Given the description of an element on the screen output the (x, y) to click on. 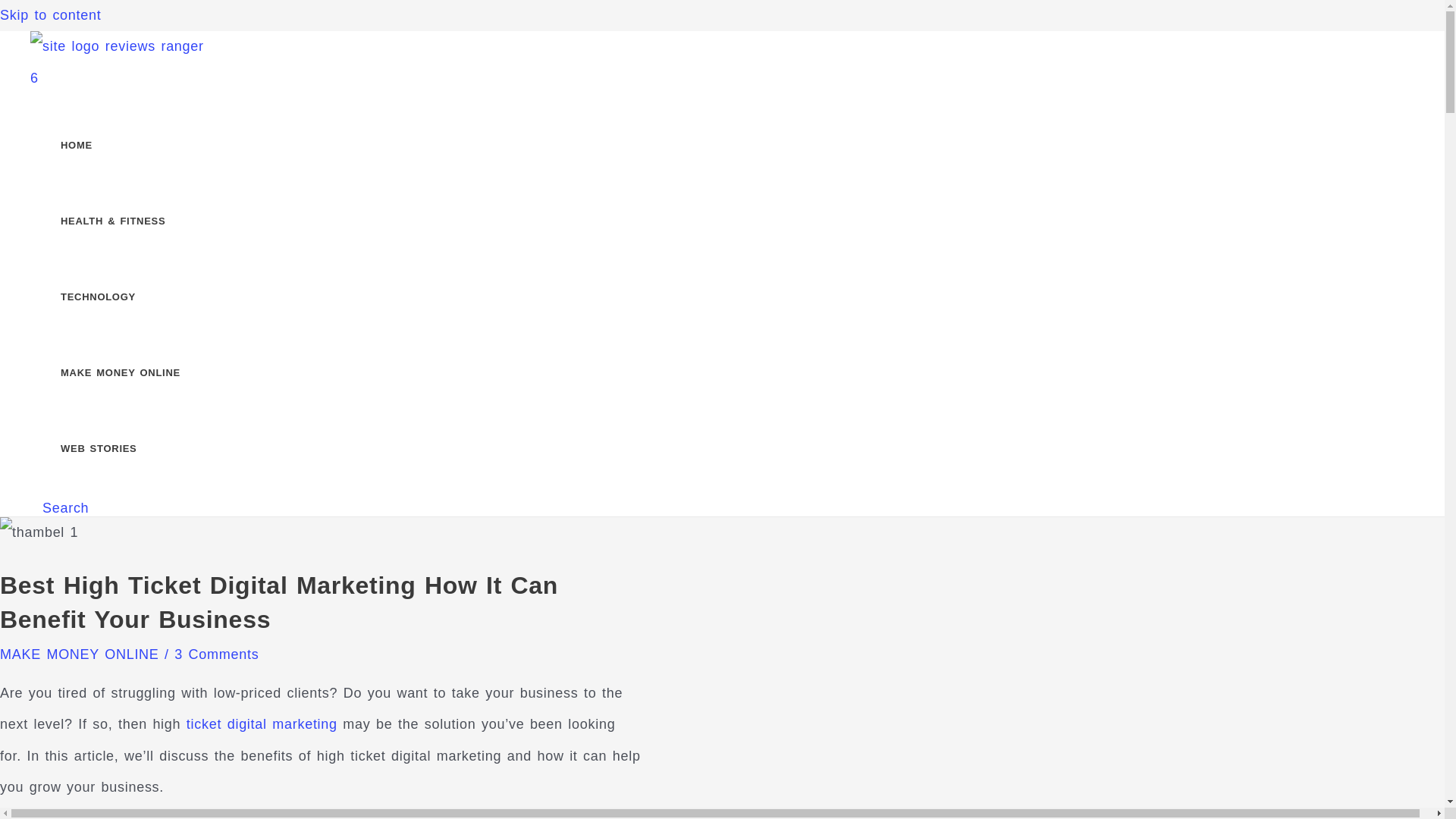
MAKE MONEY ONLINE (79, 654)
Search (65, 508)
ticket digital marketing (261, 724)
Skip to content (50, 14)
WEB STORIES (133, 448)
3 Comments (216, 654)
HOME (133, 145)
MAKE MONEY ONLINE (133, 372)
TECHNOLOGY (133, 296)
Skip to content (50, 14)
